Given the description of an element on the screen output the (x, y) to click on. 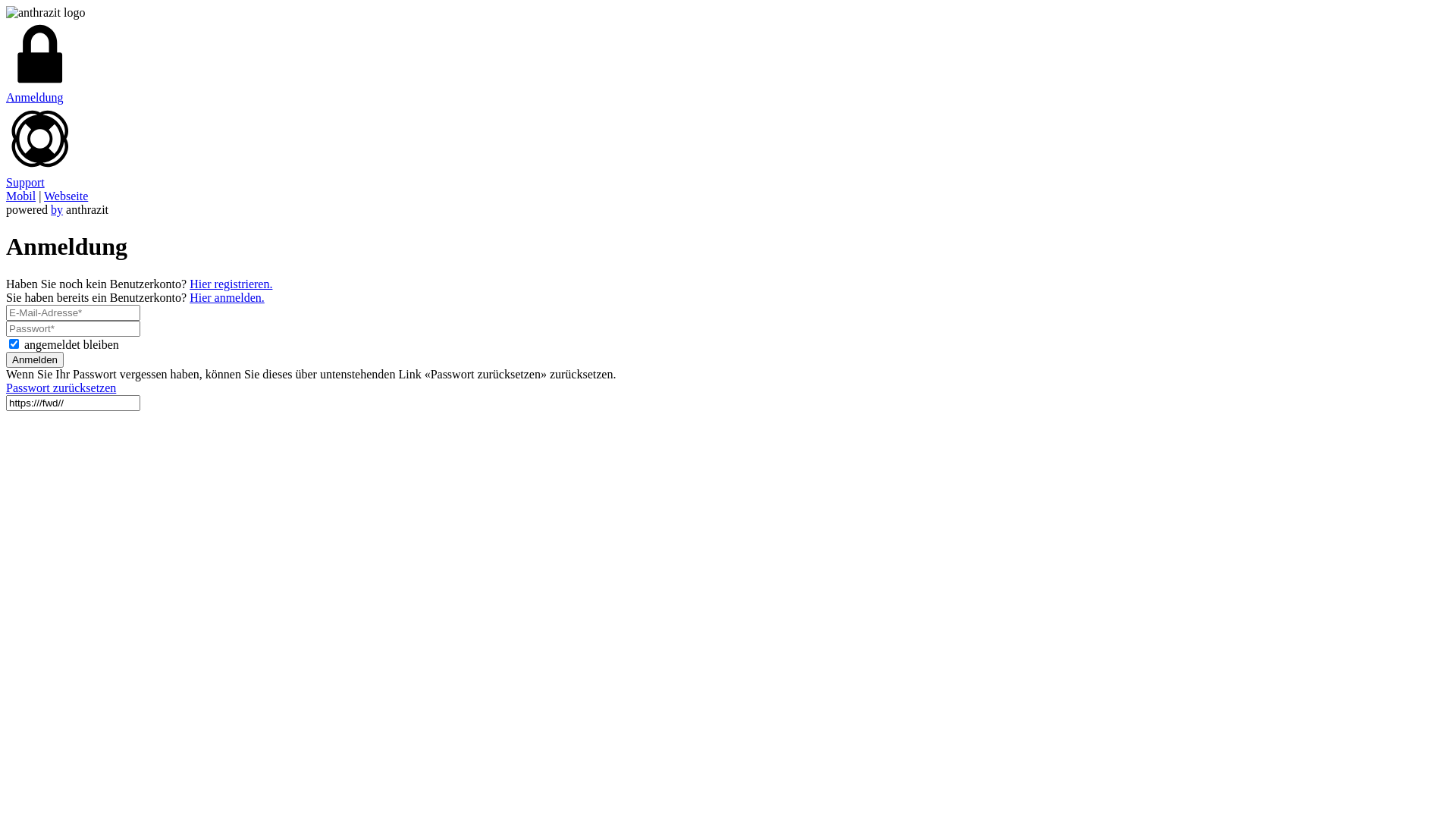
Hier registrieren. Element type: text (230, 283)
by Element type: text (56, 209)
Anmeldung Element type: text (727, 61)
Mobil Element type: text (20, 195)
Support Element type: text (727, 146)
Hier anmelden. Element type: text (226, 297)
Webseite Element type: text (65, 195)
Anmelden Element type: text (34, 359)
